Given the description of an element on the screen output the (x, y) to click on. 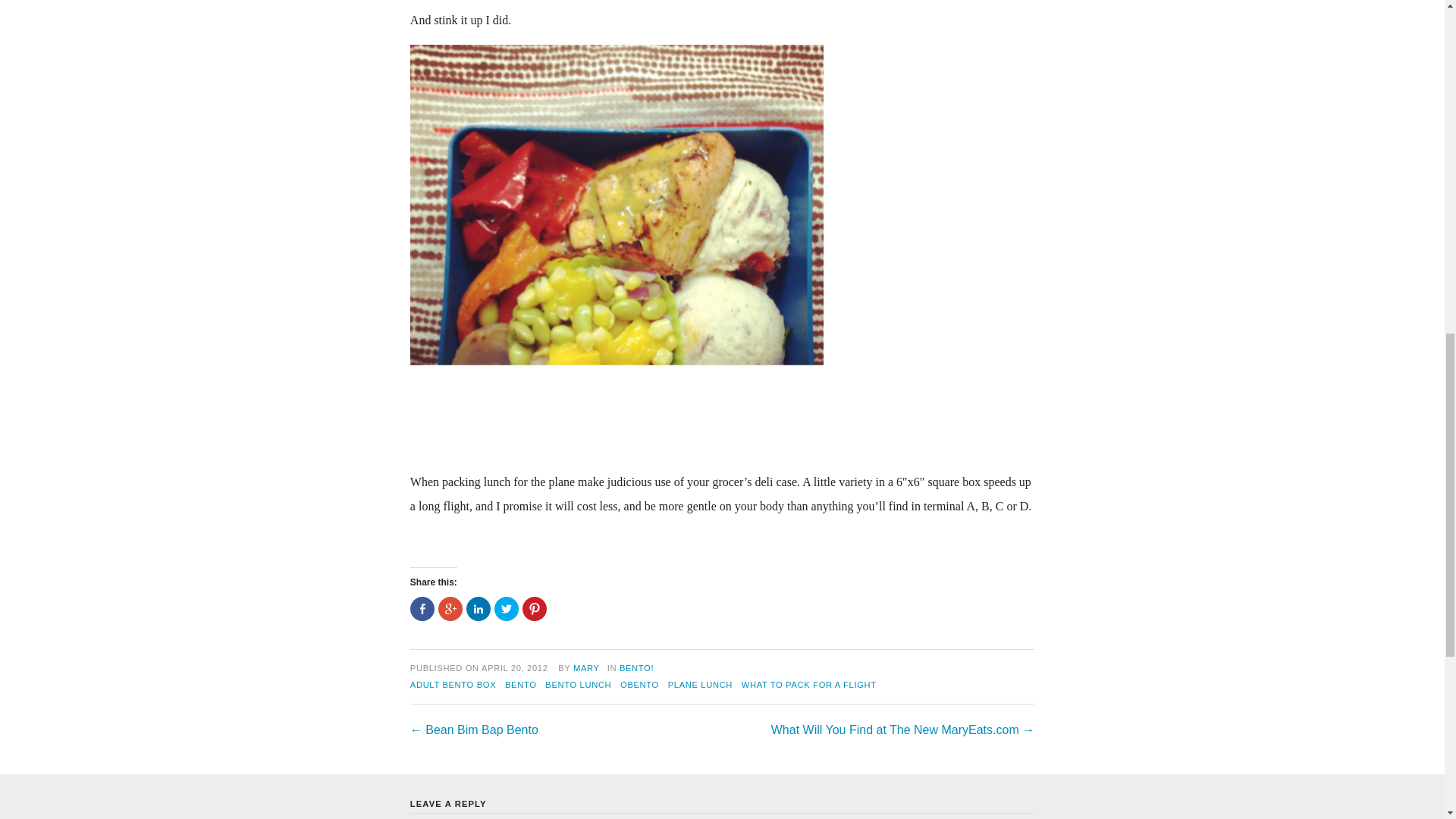
BENTO (521, 684)
BENTO LUNCH (577, 684)
BENTO! (636, 667)
Click to share on Pinterest (534, 608)
Click to share on LinkedIn (477, 608)
OBENTO (639, 684)
PLANE LUNCH (700, 684)
WHAT TO PACK FOR A FLIGHT (808, 684)
Share on Facebook (421, 608)
Click to share on Twitter (506, 608)
ADULT BENTO BOX (453, 684)
MARY (586, 667)
